Given the description of an element on the screen output the (x, y) to click on. 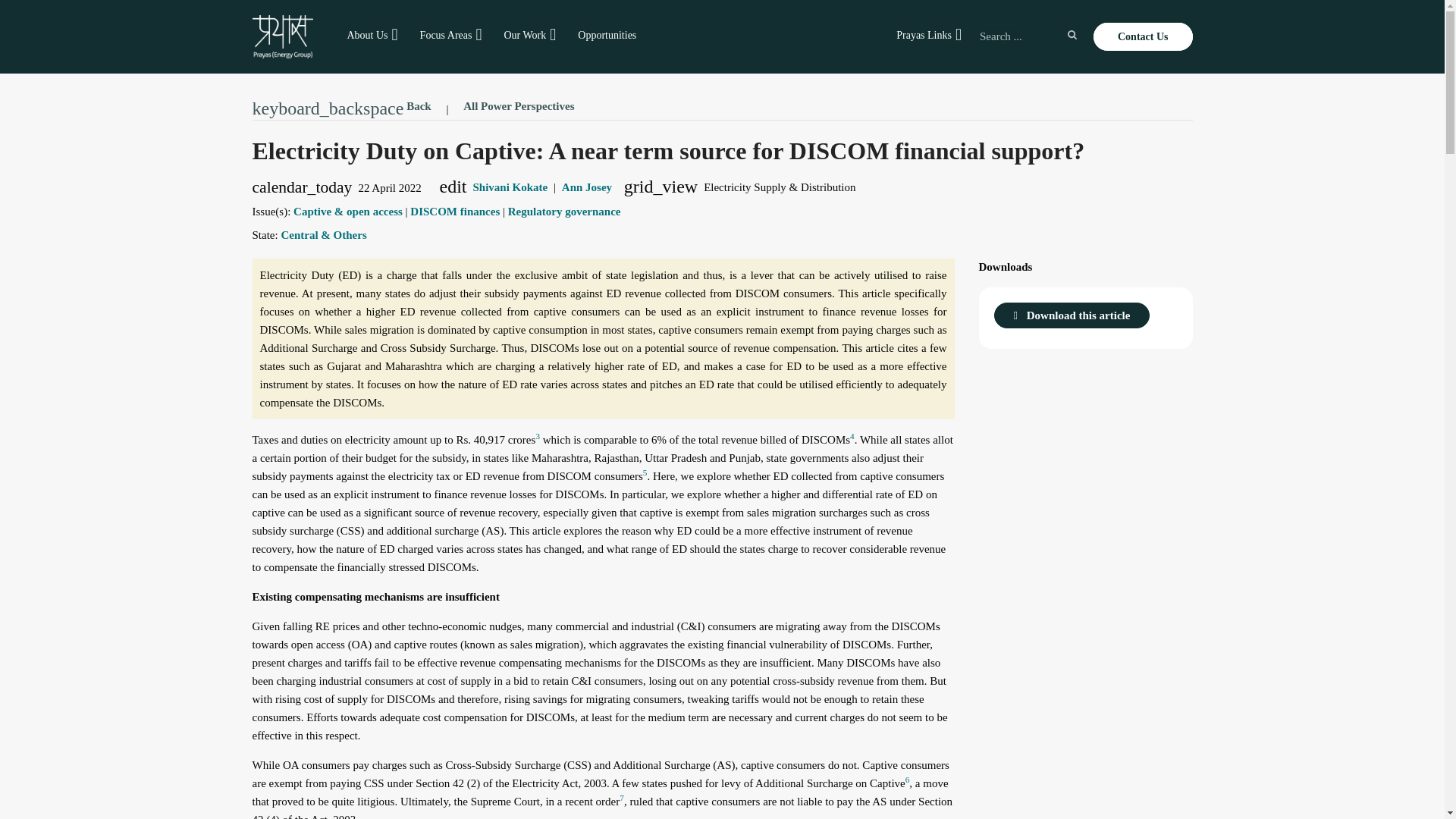
About Us (366, 35)
Our Work (524, 35)
Contact Us (1142, 36)
